Given the description of an element on the screen output the (x, y) to click on. 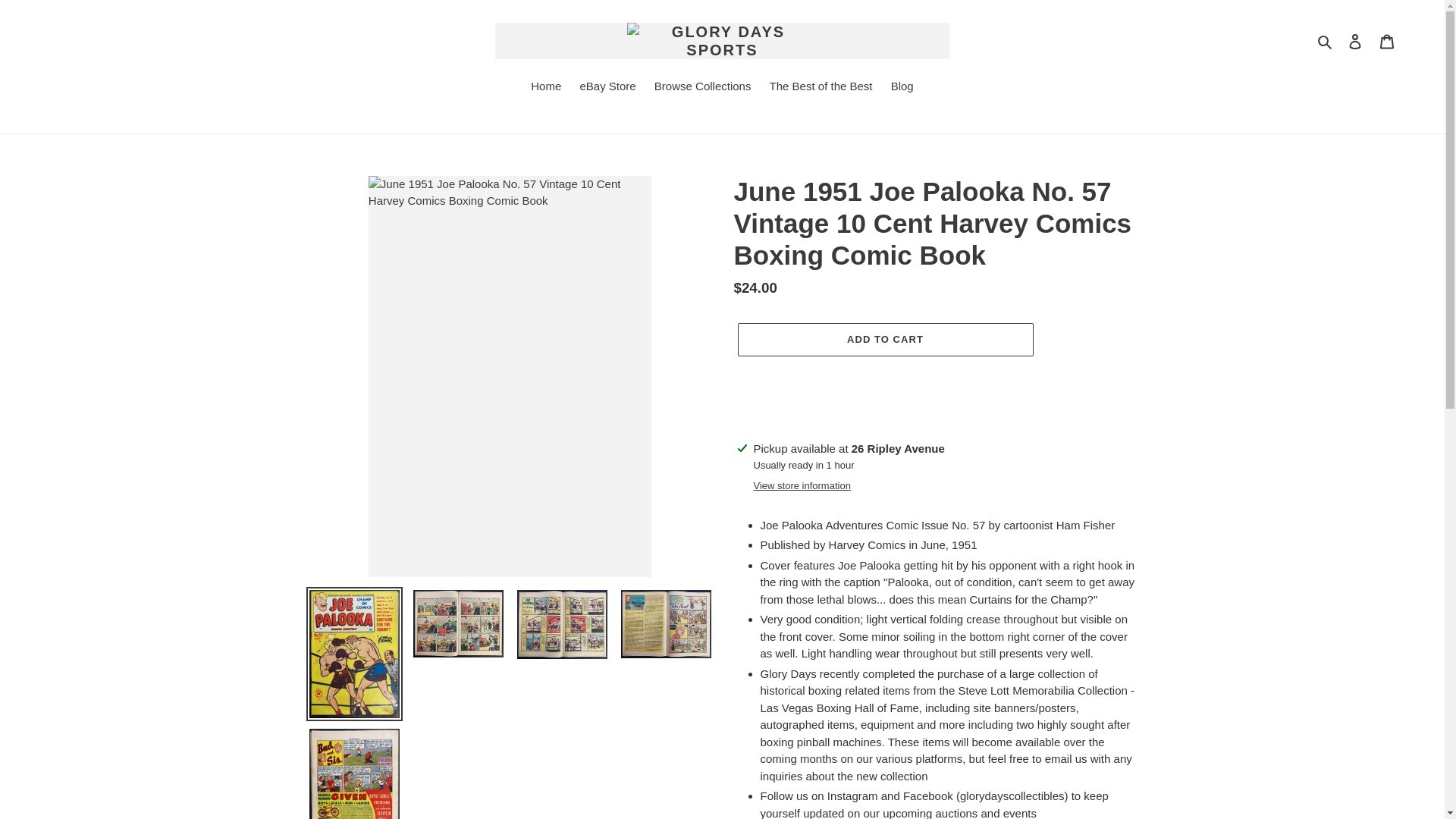
Home (545, 87)
ADD TO CART (884, 339)
Log in (1355, 41)
Browse Collections (702, 87)
View store information (802, 485)
eBay Store (607, 87)
Blog (902, 87)
The Best of the Best (820, 87)
Cart (1387, 41)
Search (1326, 40)
